Given the description of an element on the screen output the (x, y) to click on. 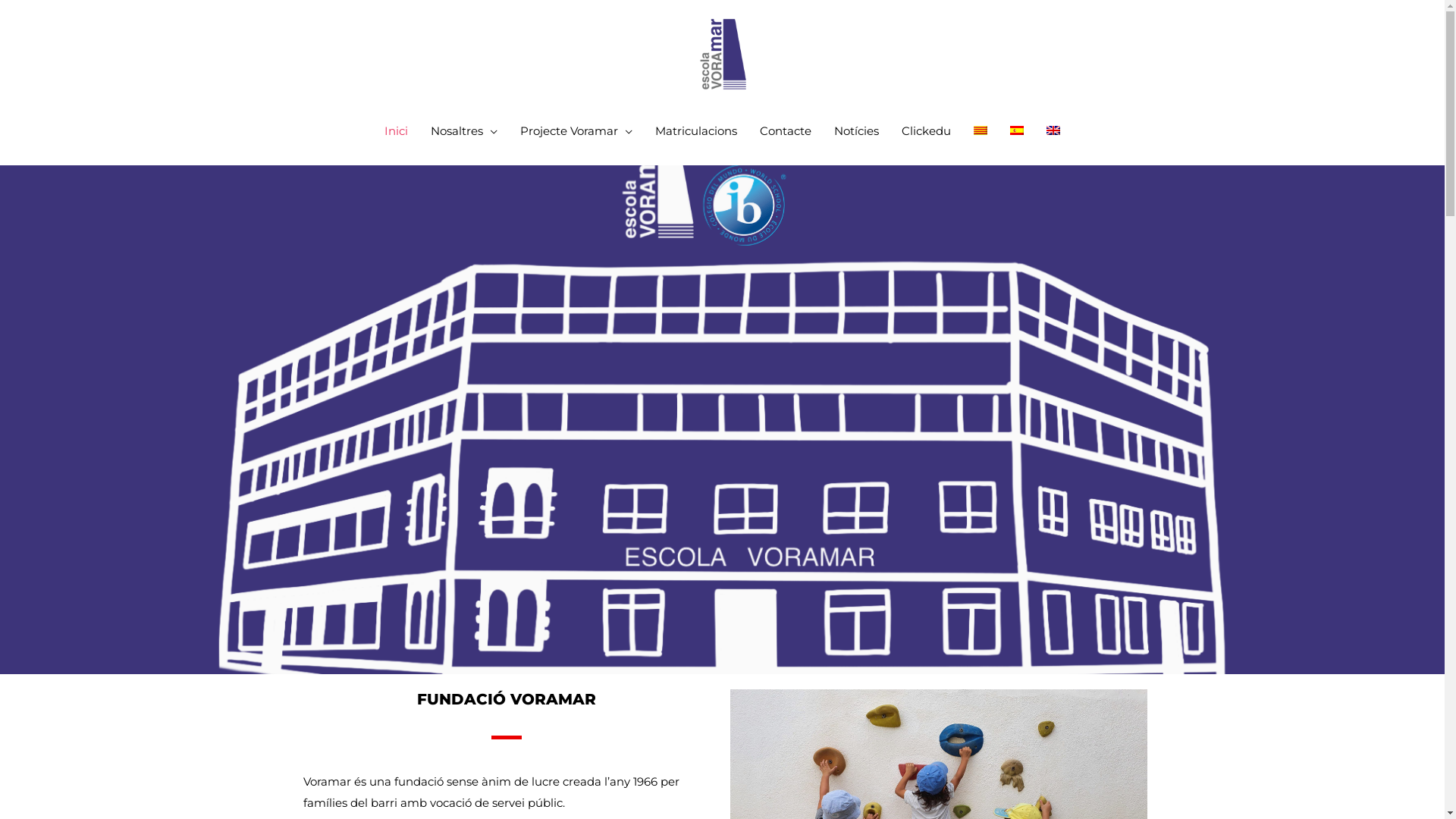
Projecte Voramar Element type: text (575, 130)
Clickedu Element type: text (926, 130)
Matriculacions Element type: text (695, 130)
Nosaltres Element type: text (463, 130)
Inici Element type: text (396, 130)
Contacte Element type: text (785, 130)
